Given the description of an element on the screen output the (x, y) to click on. 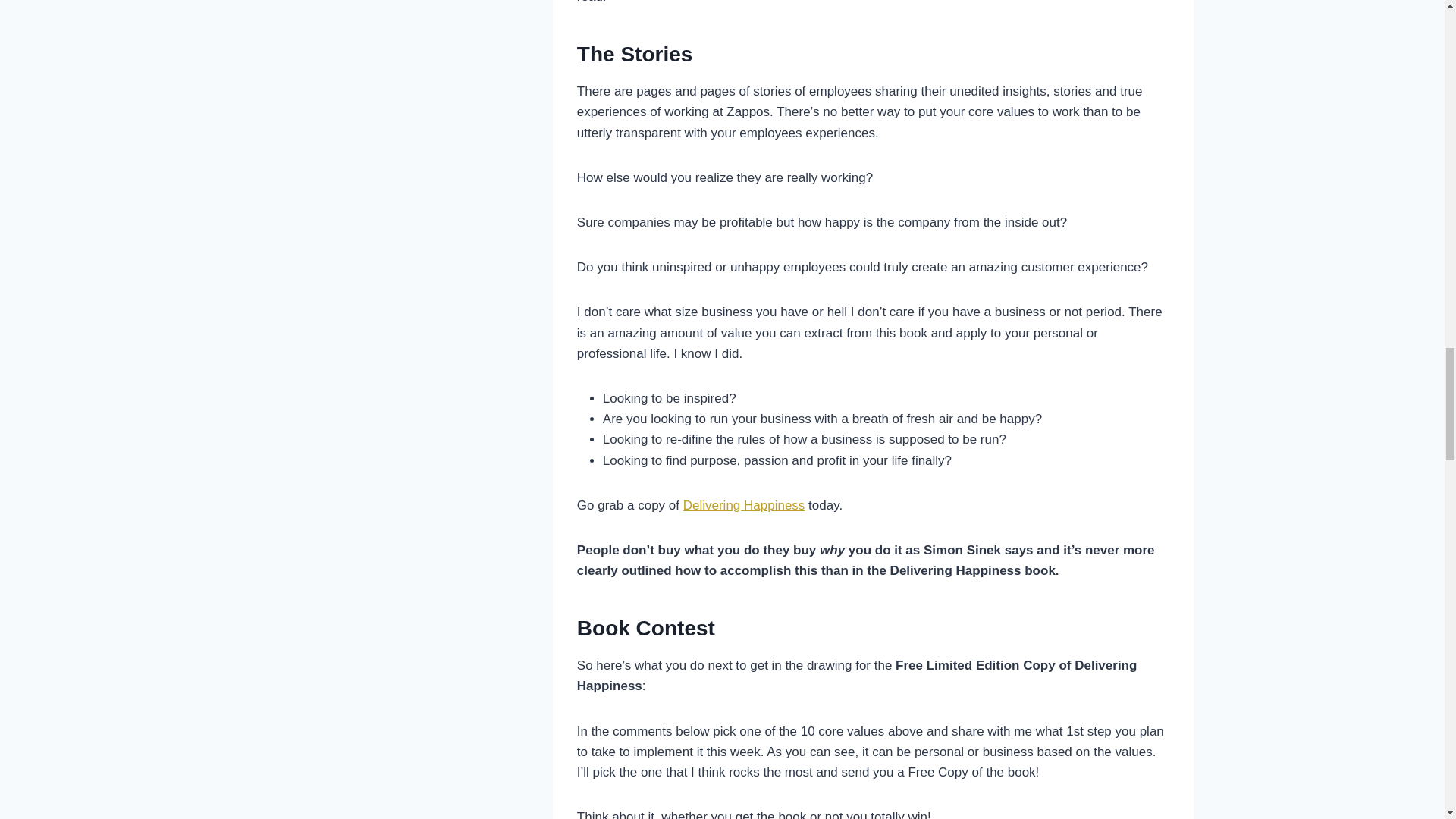
Delivering Happiness (743, 504)
Delivering Happiness Book (743, 504)
